Given the description of an element on the screen output the (x, y) to click on. 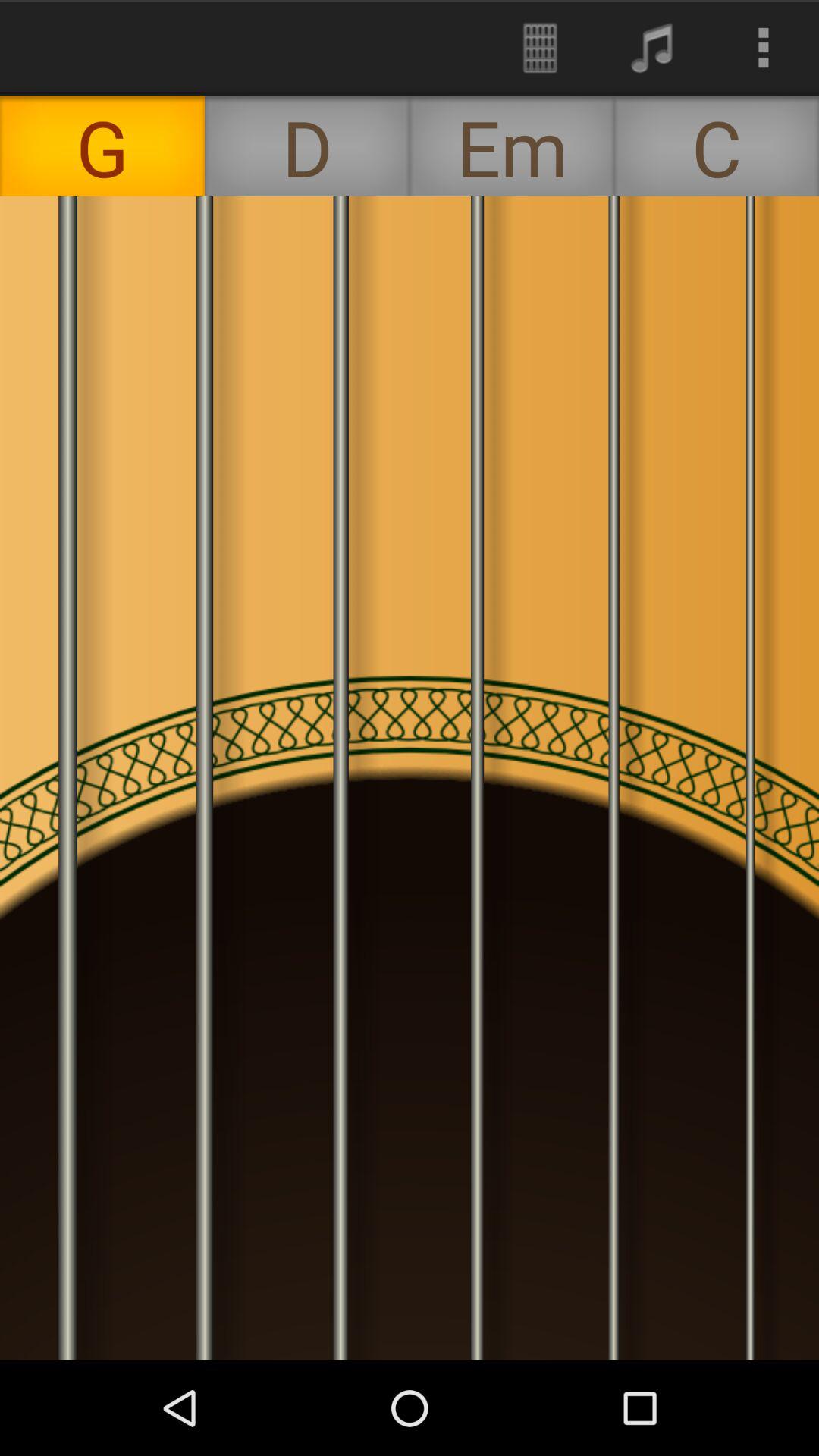
scroll until the g (102, 145)
